Given the description of an element on the screen output the (x, y) to click on. 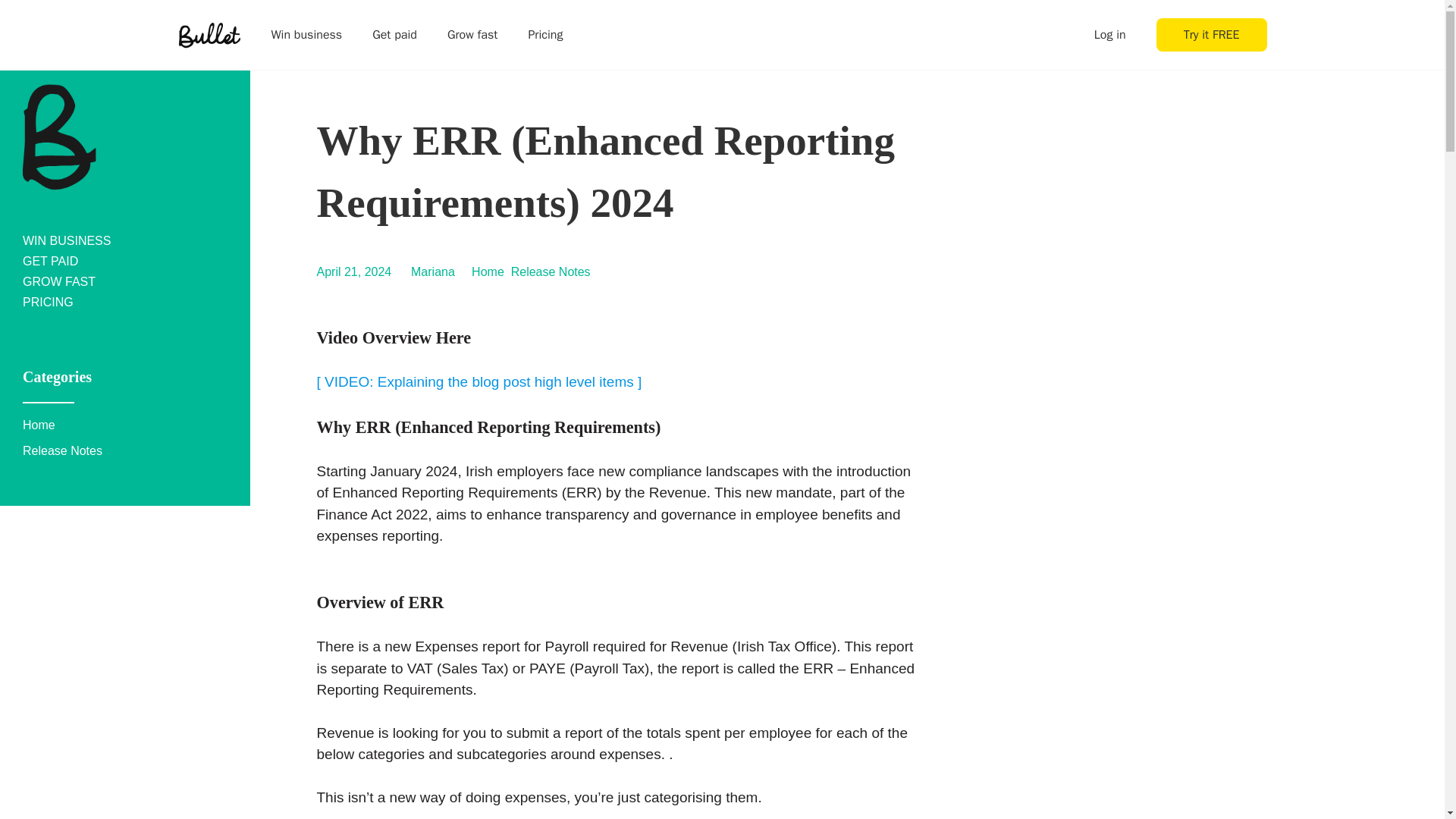
Grow fast (471, 34)
Pricing (544, 34)
April 21, 2024 (354, 271)
Win business (306, 34)
Home (39, 424)
Release Notes (551, 271)
Release Notes (62, 450)
PRICING (48, 302)
WIN BUSINESS (66, 240)
Home (487, 271)
GROW FAST (59, 281)
Log in (1109, 34)
Try it FREE (1211, 34)
Mariana (432, 271)
Get paid (394, 34)
